Given the description of an element on the screen output the (x, y) to click on. 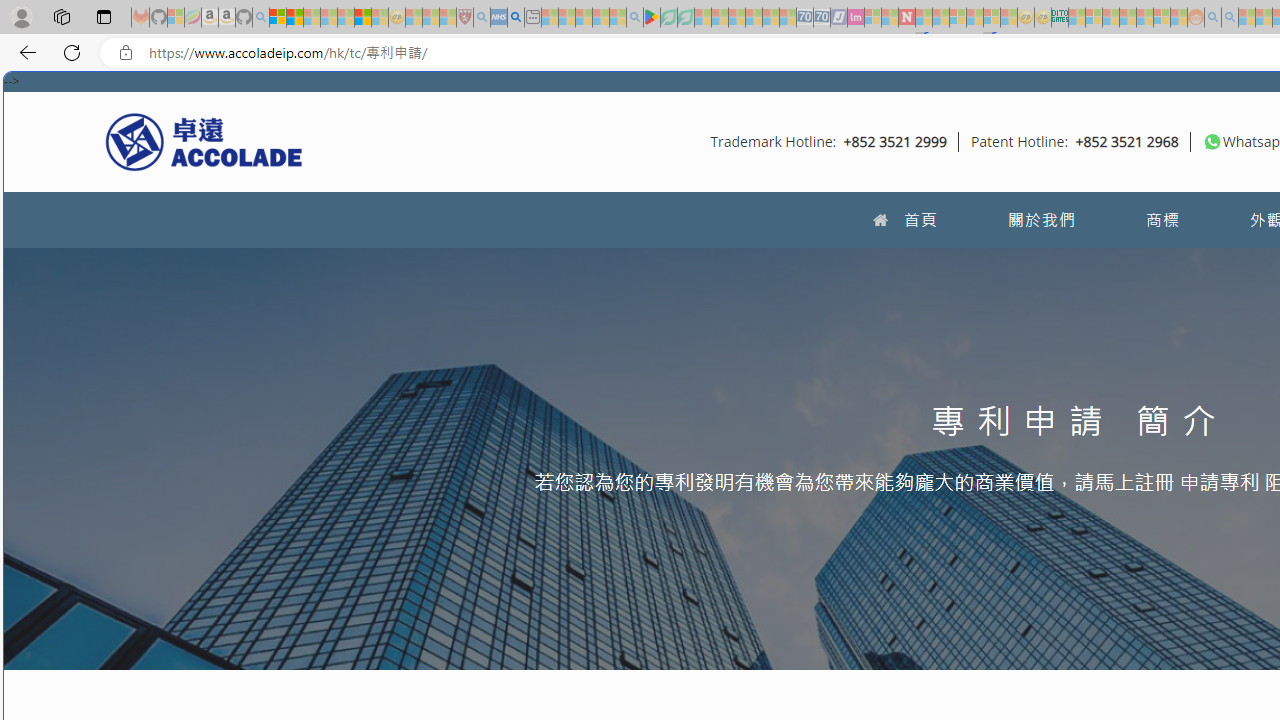
Latest Politics News & Archive | Newsweek.com - Sleeping (906, 17)
Bluey: Let's Play! - Apps on Google Play (651, 17)
Cheap Hotels - Save70.com - Sleeping (821, 17)
Accolade IP HK Logo (203, 141)
